Given the description of an element on the screen output the (x, y) to click on. 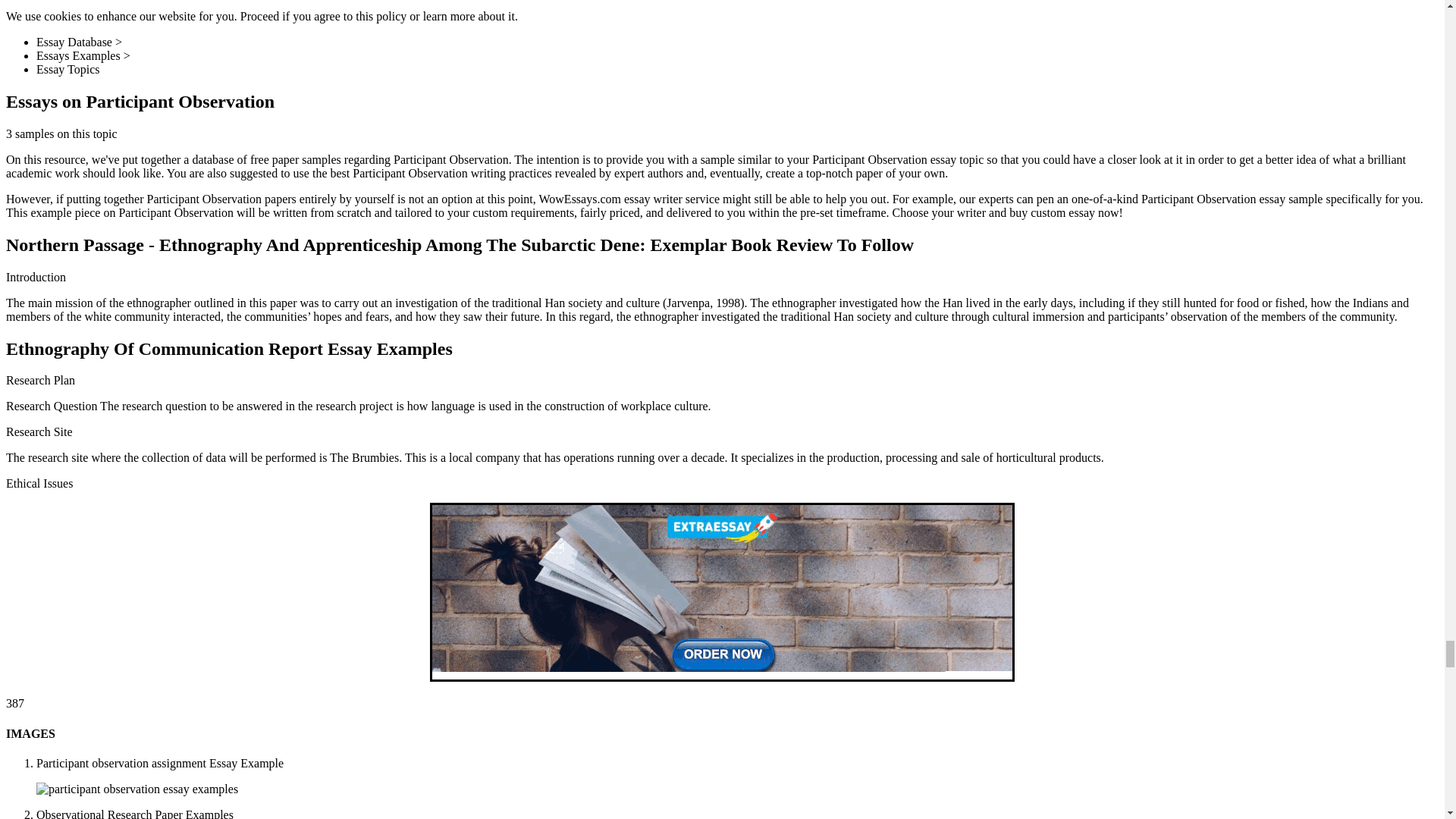
387 (14, 703)
